Given the description of an element on the screen output the (x, y) to click on. 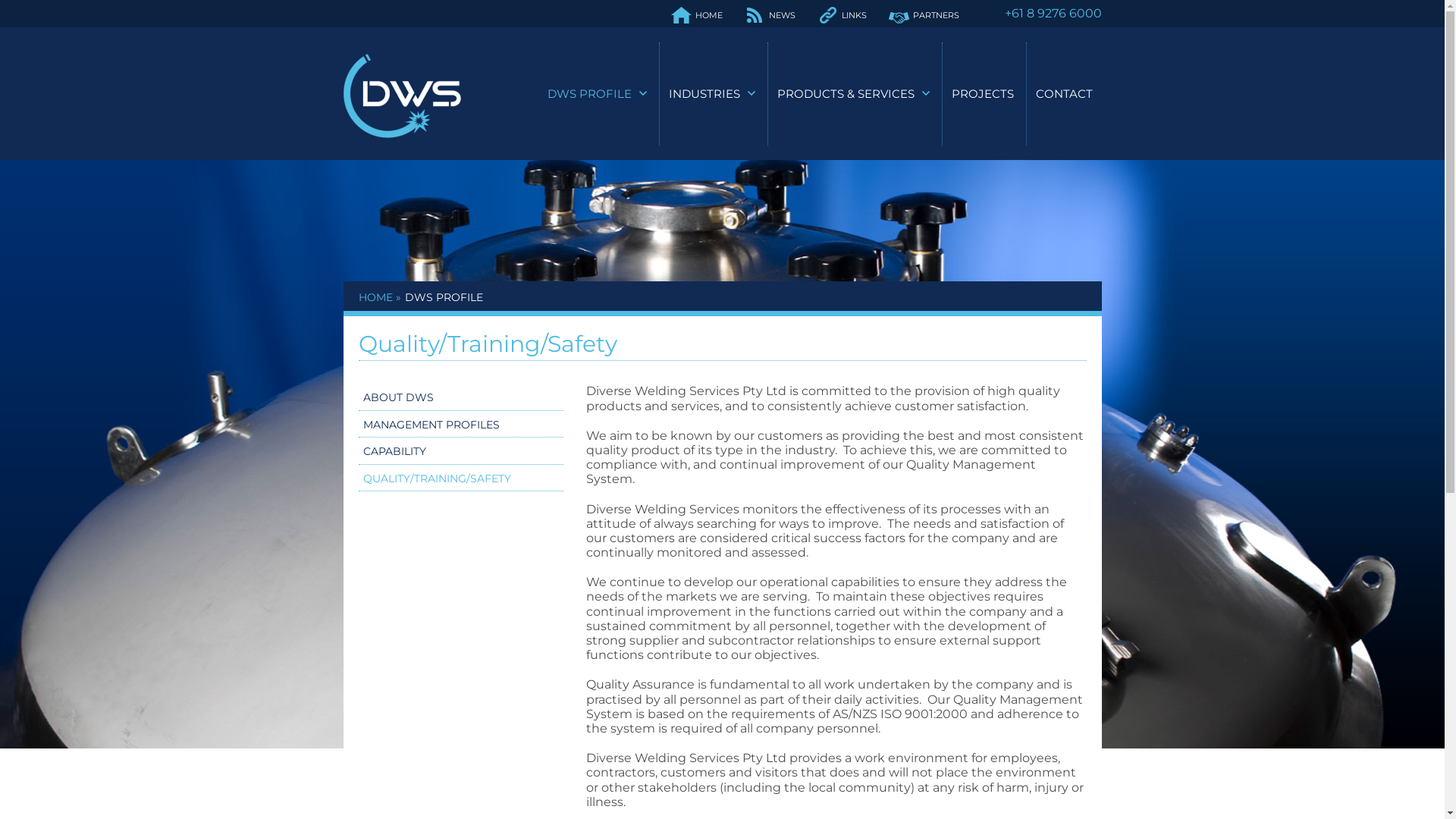
CAPABILITY Element type: text (393, 451)
PRODUCTS & SERVICES Element type: text (844, 93)
PROJECTS Element type: text (981, 93)
DWS PROFILE Element type: text (443, 297)
NEWS Element type: text (781, 15)
HOME Element type: text (708, 15)
ABOUT DWS Element type: text (397, 397)
PARTNERS Element type: text (936, 15)
QUALITY/TRAINING/SAFETY Element type: text (436, 478)
+61 8 9276 6000 Element type: text (1052, 13)
DWS PROFILE Element type: text (589, 93)
CONTACT Element type: text (1063, 93)
MANAGEMENT PROFILES Element type: text (430, 424)
LINKS Element type: text (853, 15)
HOME Element type: text (374, 297)
INDUSTRIES Element type: text (704, 93)
